Given the description of an element on the screen output the (x, y) to click on. 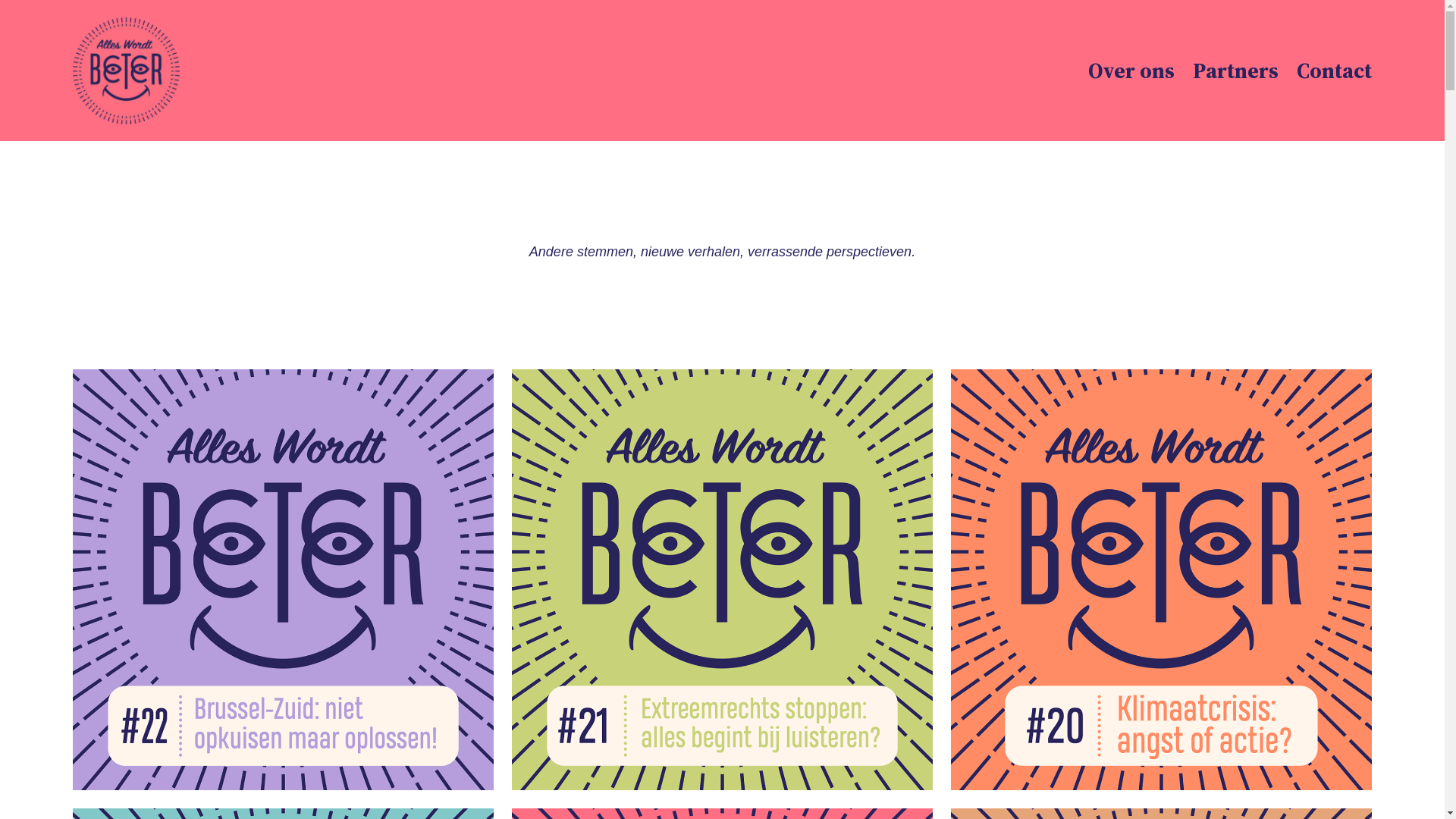
Partners Element type: text (1235, 70)
Over ons Element type: text (1131, 70)
Contact Element type: text (1333, 70)
